Given the description of an element on the screen output the (x, y) to click on. 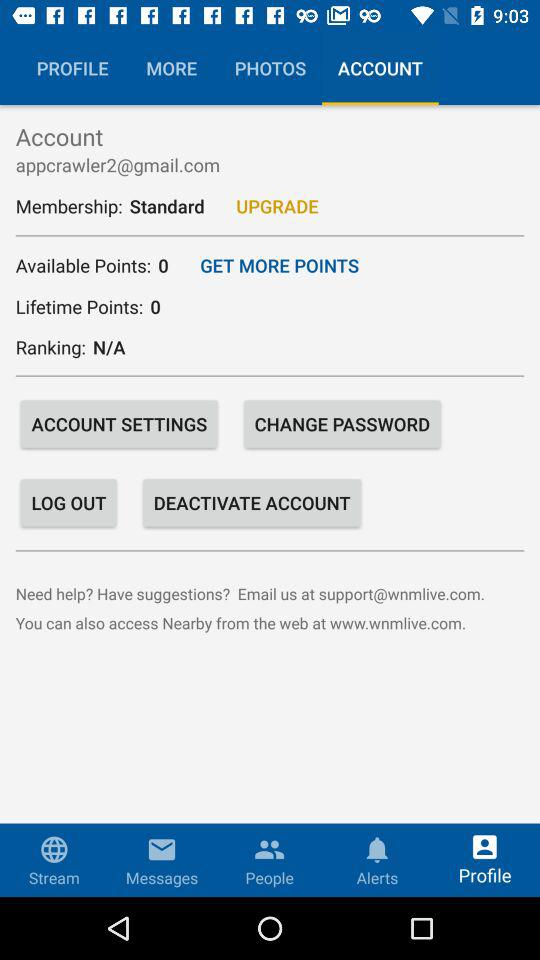
scroll until the deactivate account icon (252, 502)
